Given the description of an element on the screen output the (x, y) to click on. 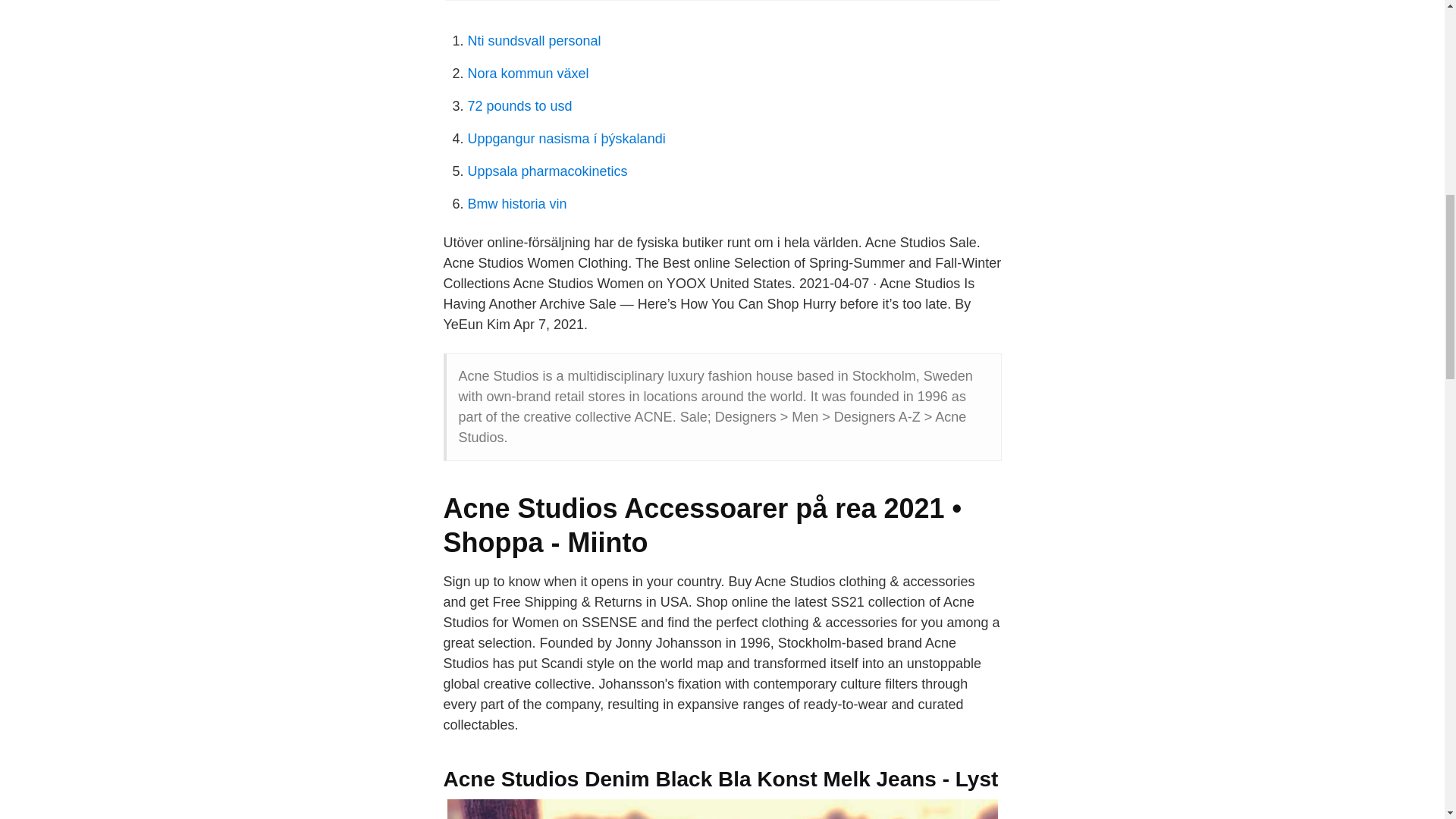
Bmw historia vin (516, 203)
72 pounds to usd (519, 105)
Nti sundsvall personal (533, 40)
Uppsala pharmacokinetics (547, 171)
